Given the description of an element on the screen output the (x, y) to click on. 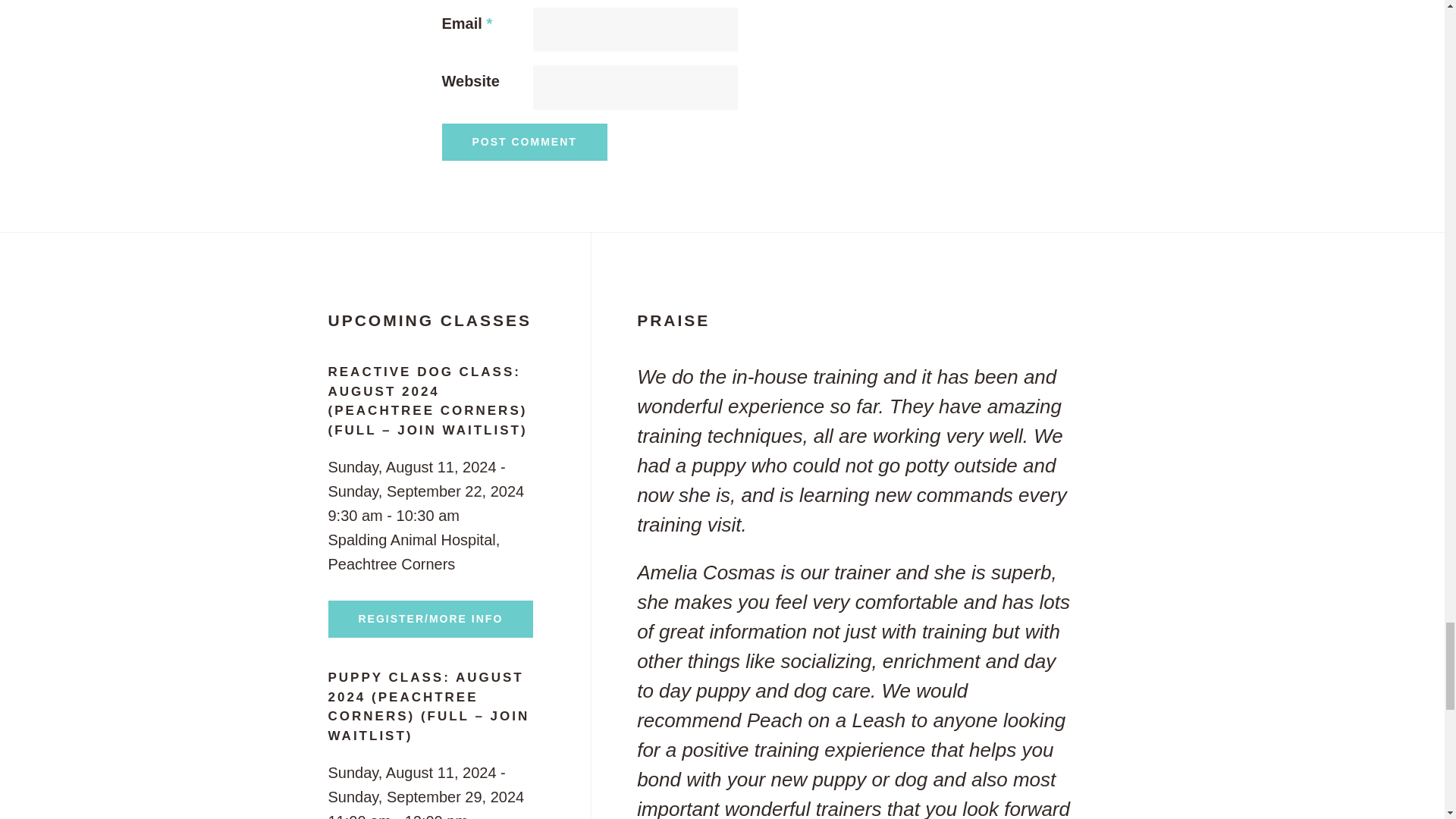
Post Comment (524, 141)
